Given the description of an element on the screen output the (x, y) to click on. 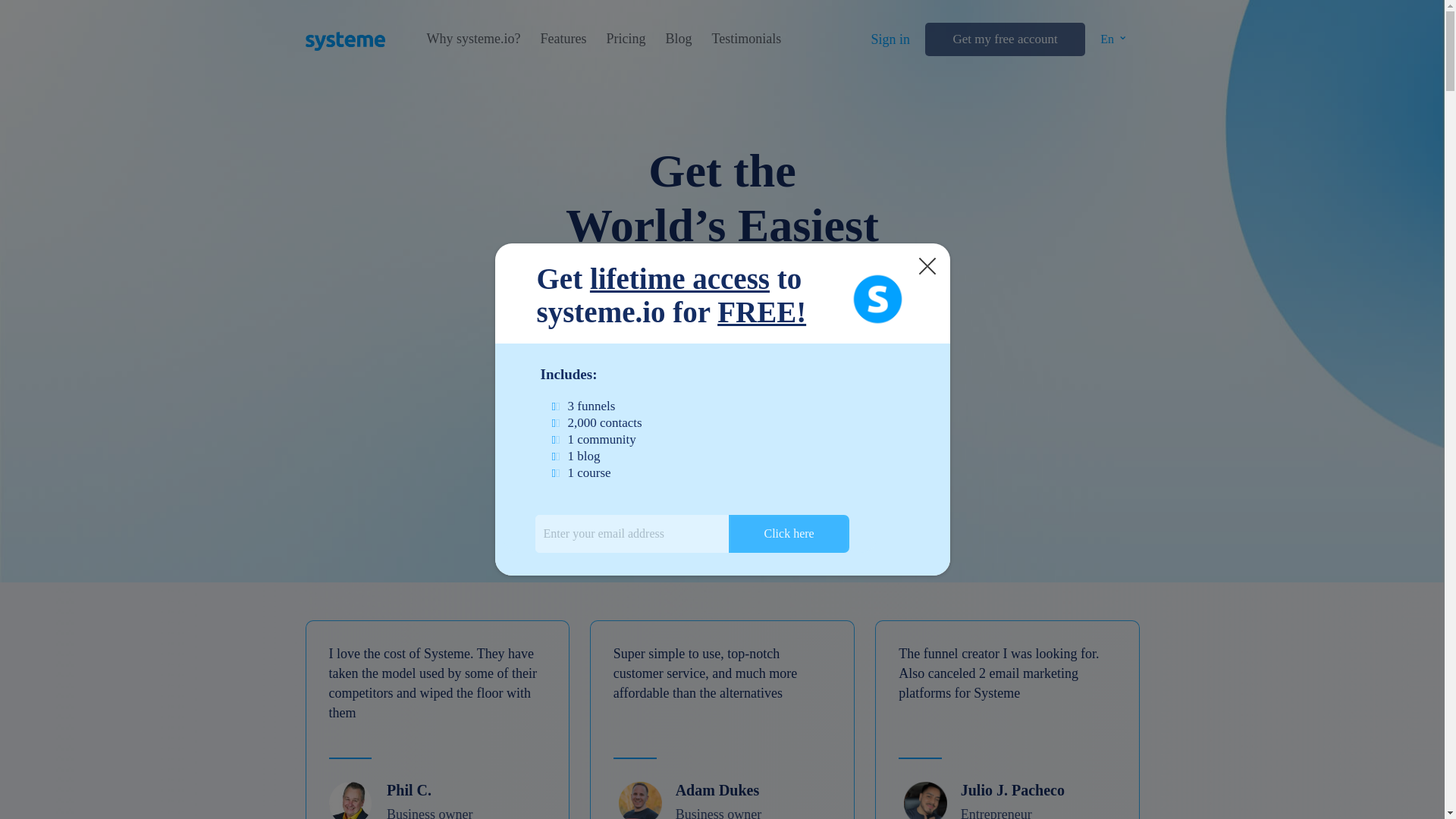
Get my free account (1004, 39)
Pricing (625, 38)
Why systeme.io? (472, 38)
Features (563, 38)
Testimonials (745, 38)
Blog (678, 38)
Sign in (890, 39)
